Given the description of an element on the screen output the (x, y) to click on. 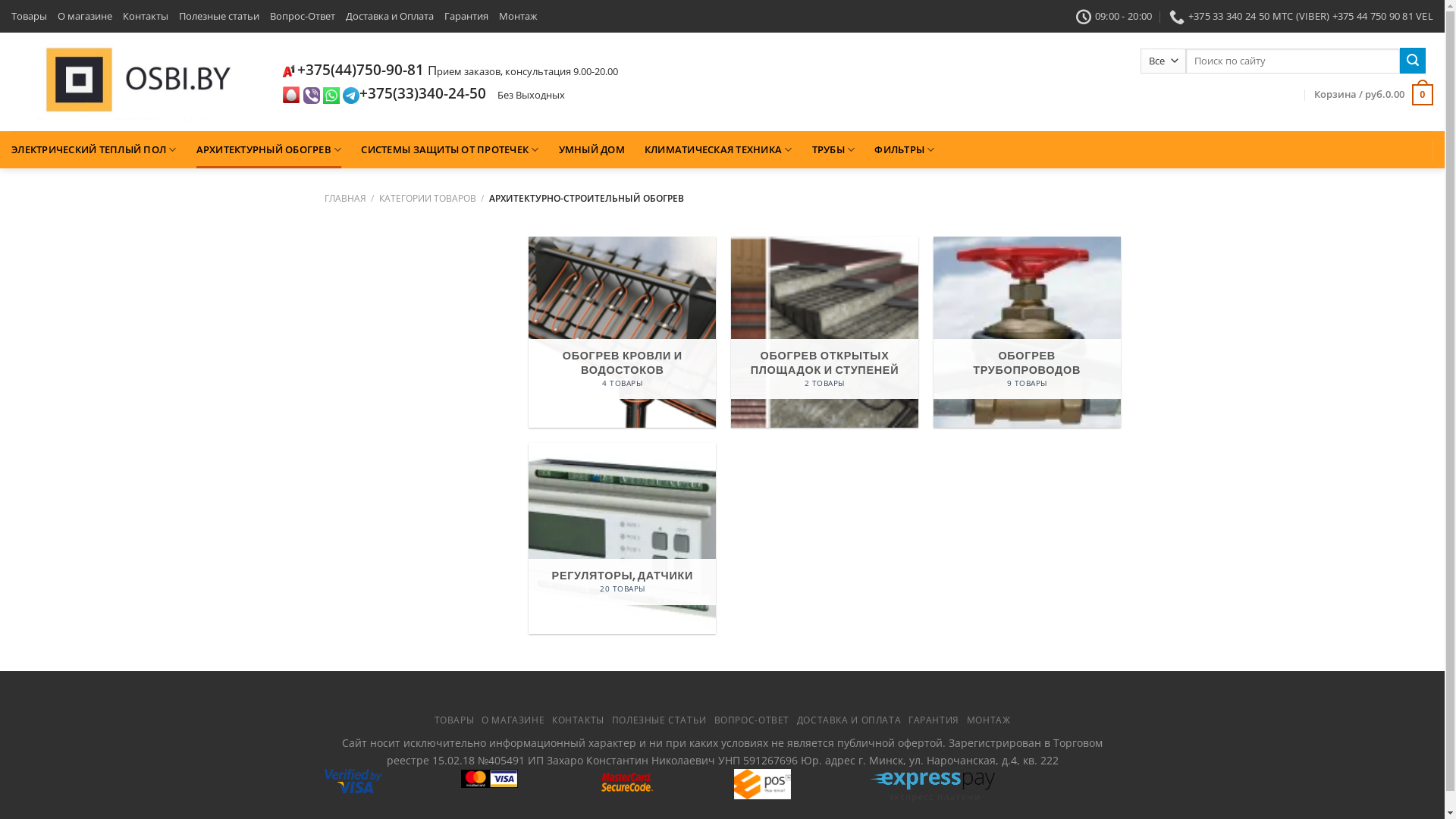
09:00 - 20:00 Element type: text (1114, 15)
